Given the description of an element on the screen output the (x, y) to click on. 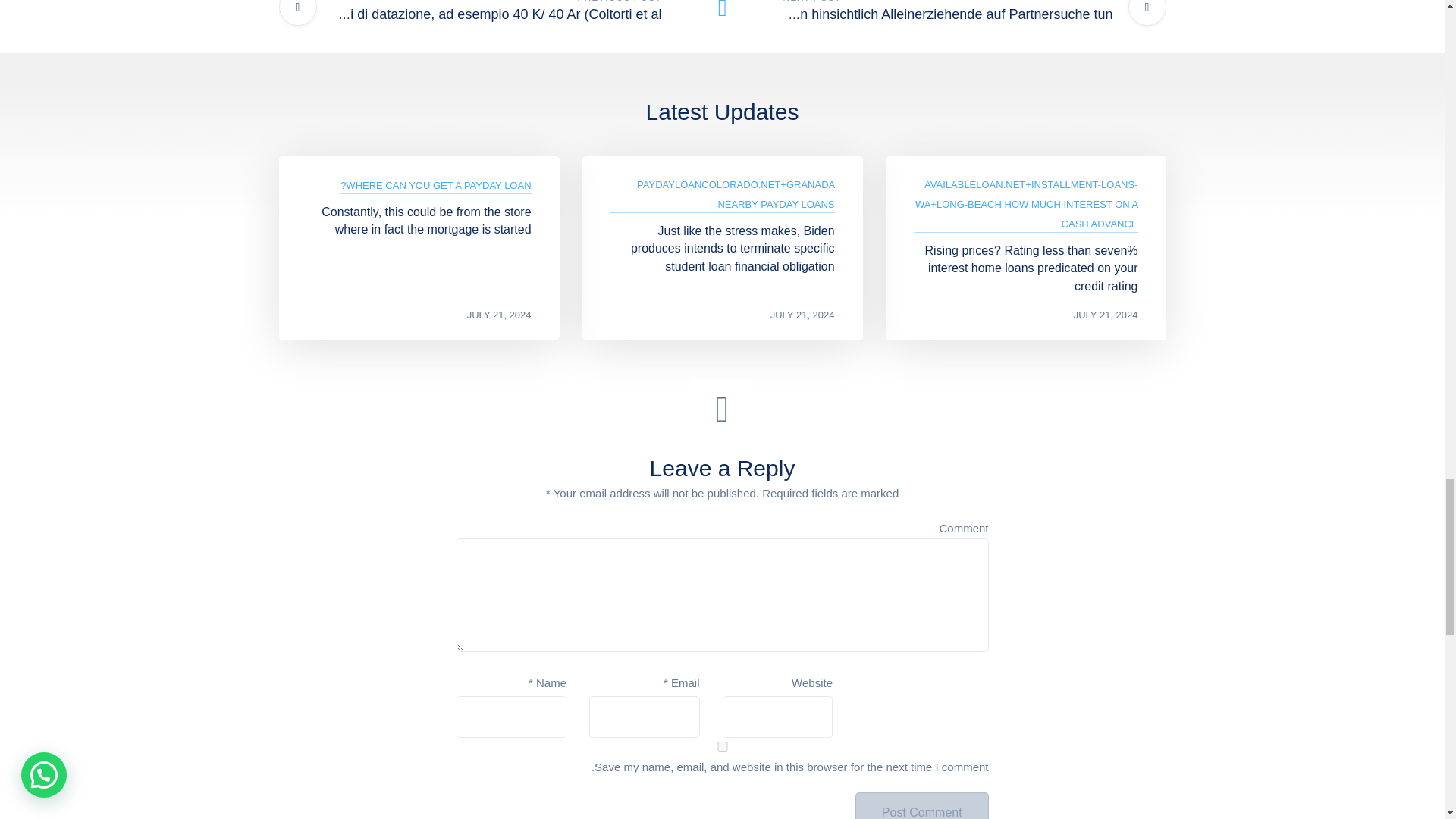
yes (722, 746)
Post Comment (922, 805)
